Given the description of an element on the screen output the (x, y) to click on. 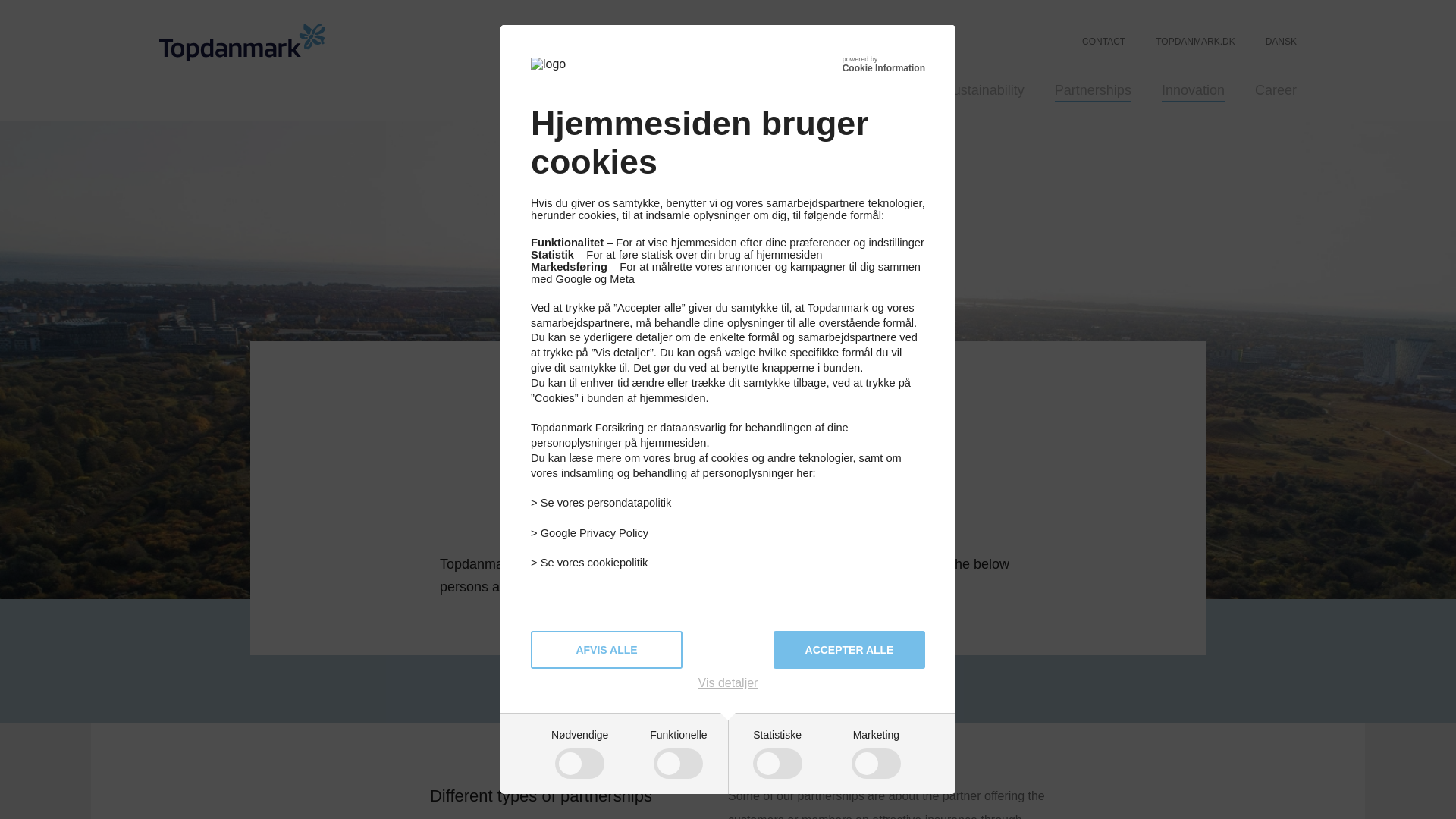
Vis detaljer (728, 683)
Cookie Information (883, 68)
AFVIS ALLE (606, 649)
ACCEPTER ALLE (848, 649)
